Given the description of an element on the screen output the (x, y) to click on. 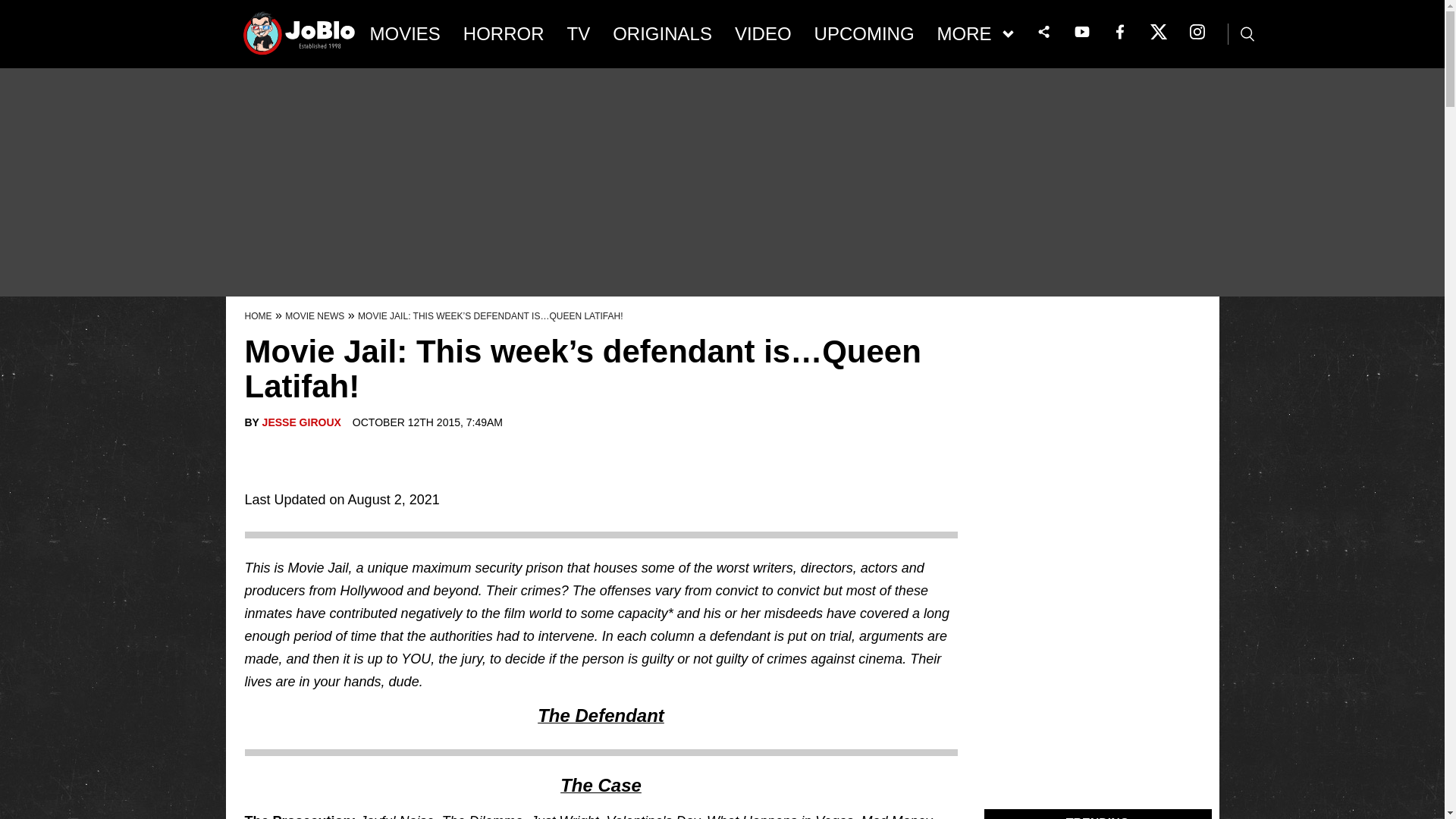
JoBlo Logo (299, 38)
Go (13, 7)
TV (578, 34)
ORIGINALS (662, 34)
UPCOMING (863, 34)
HORROR (503, 34)
VIDEO (762, 34)
MOVIES (405, 34)
MORE (976, 34)
